Given the description of an element on the screen output the (x, y) to click on. 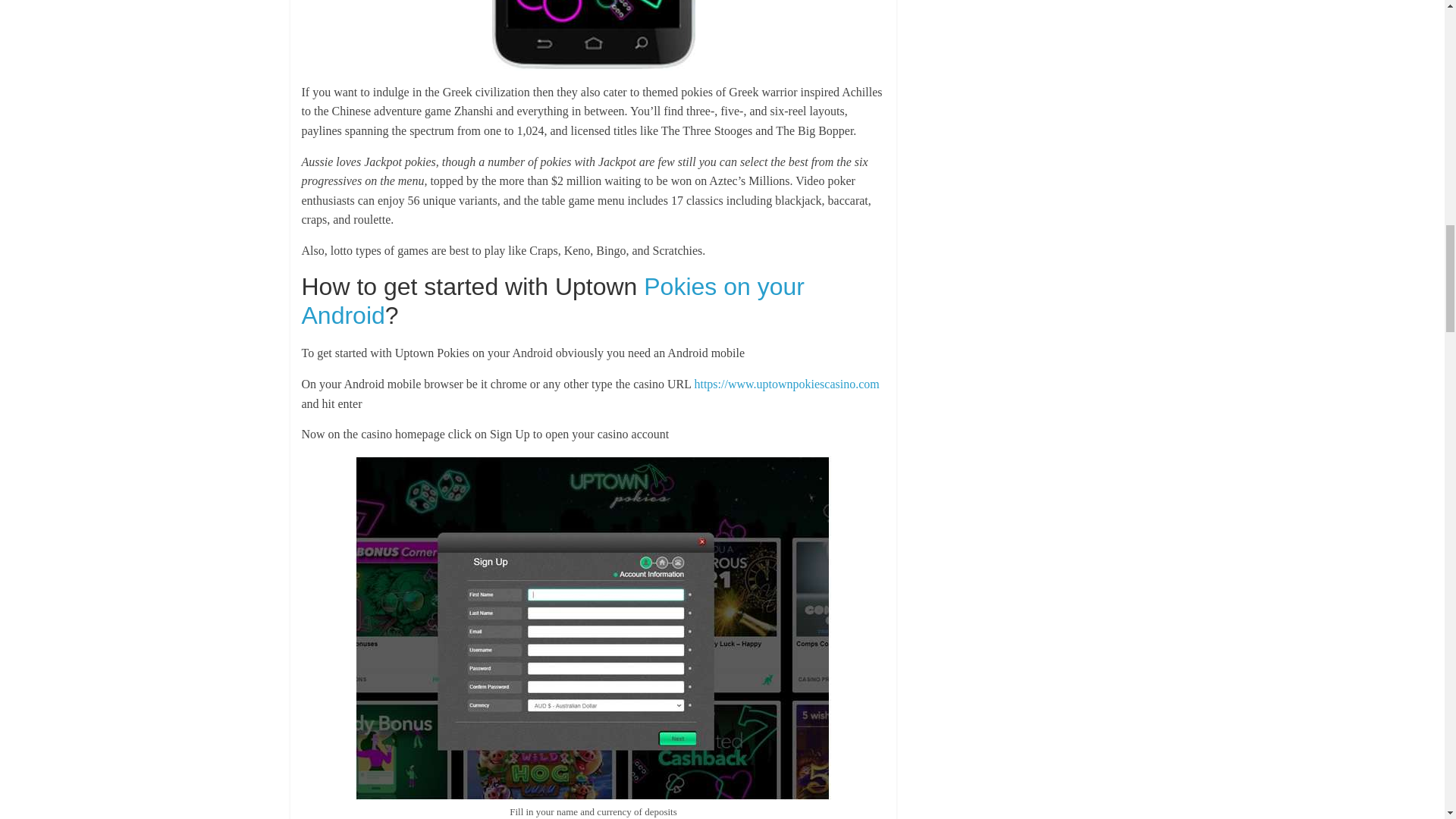
Pokies on your Android (553, 300)
